Given the description of an element on the screen output the (x, y) to click on. 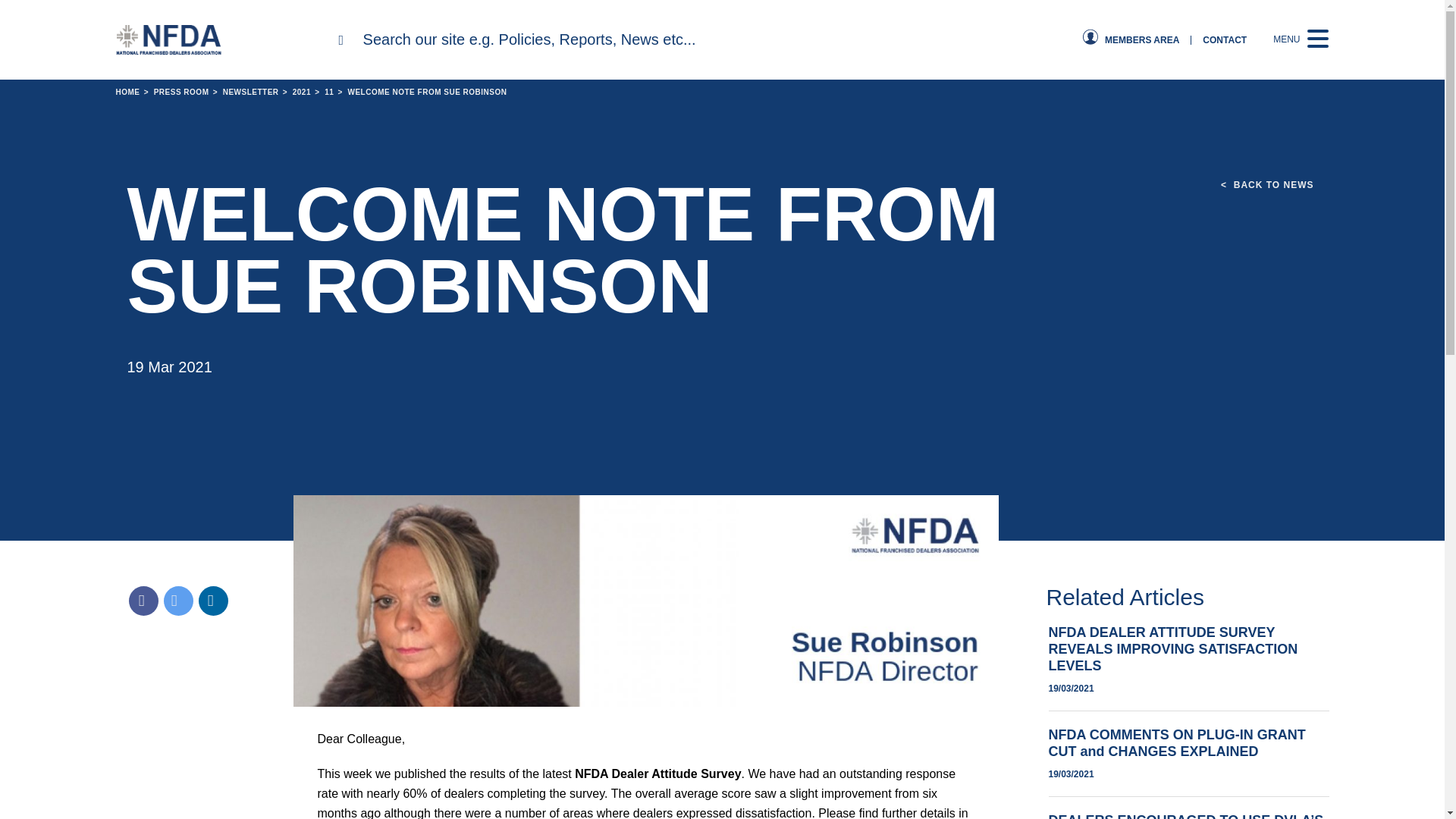
2021 (296, 91)
NEWSLETTER (243, 91)
HOME (127, 91)
PRESS ROOM (174, 91)
BACK TO NEWS (1267, 184)
NFDA COMMENTS ON PLUG-IN GRANT CUT and CHANGES EXPLAINED (1176, 743)
MEMBERS AREA (1142, 39)
CONTACT (1224, 39)
11 (323, 91)
